Given the description of an element on the screen output the (x, y) to click on. 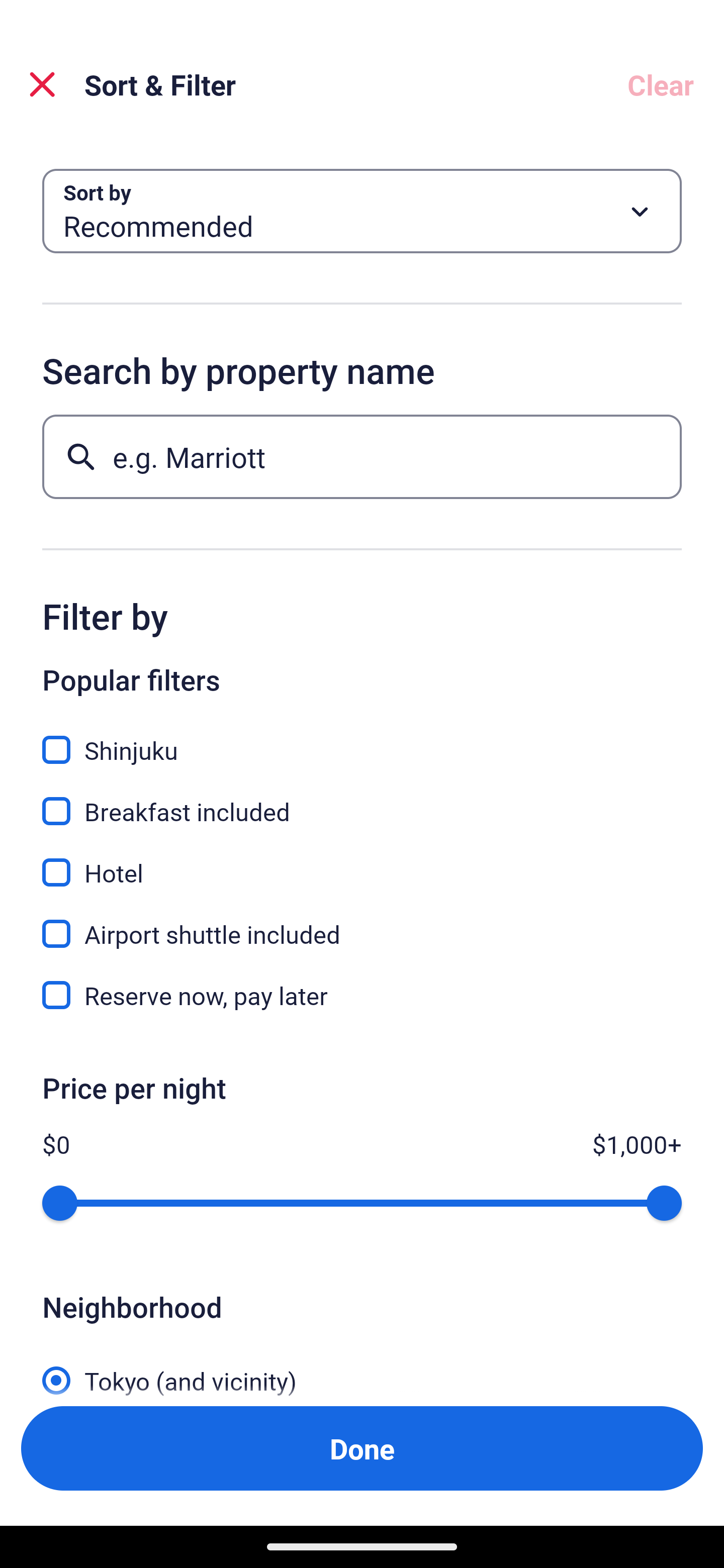
Close Sort and Filter (42, 84)
Clear (660, 84)
Sort by Button Recommended (361, 211)
e.g. Marriott Button (361, 455)
Shinjuku, Shinjuku (361, 738)
Breakfast included, Breakfast included (361, 800)
Hotel, Hotel (361, 861)
Airport shuttle included, Airport shuttle included (361, 922)
Reserve now, pay later, Reserve now, pay later (361, 995)
Apply and close Sort and Filter Done (361, 1448)
